Given the description of an element on the screen output the (x, y) to click on. 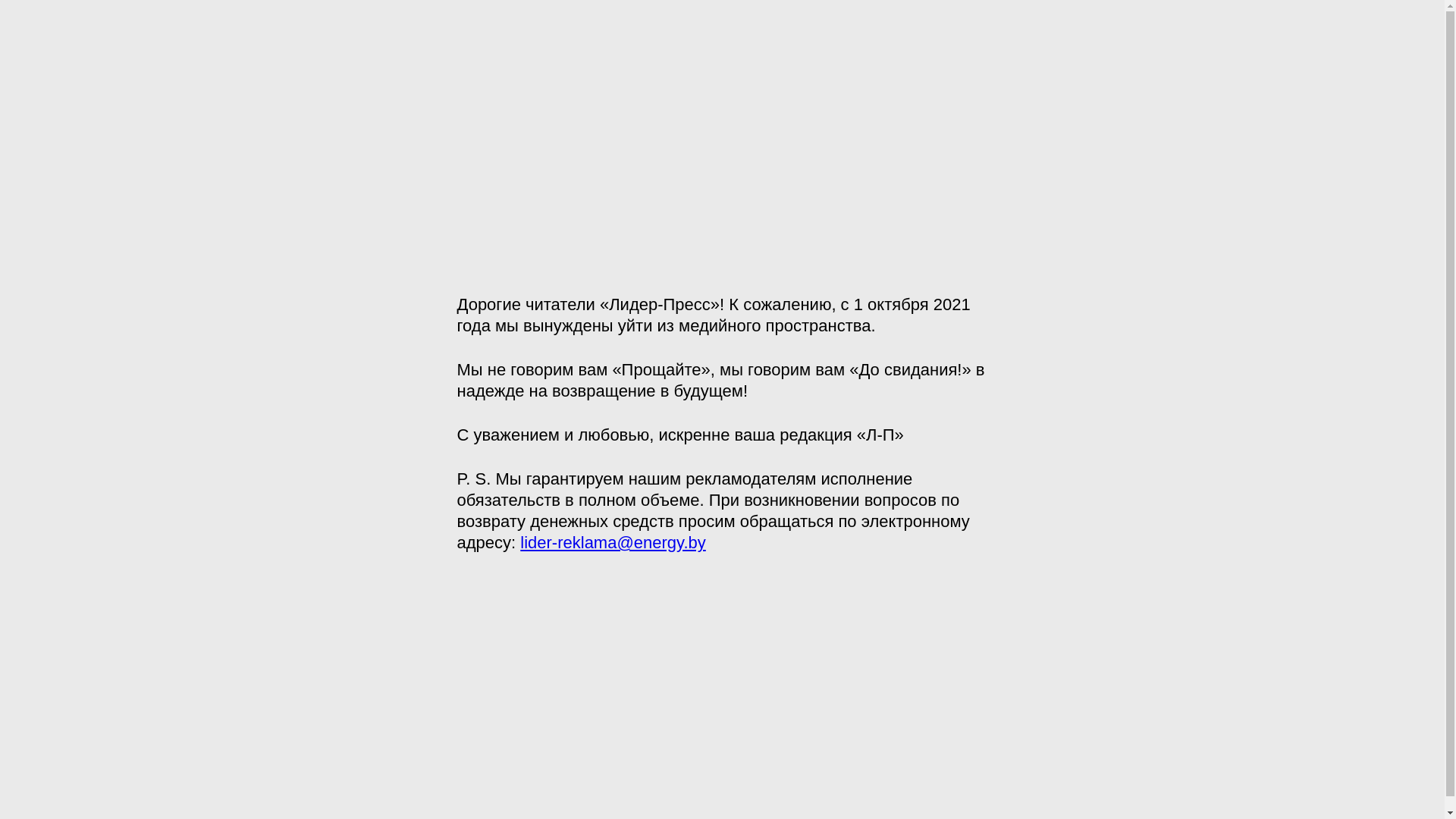
lider-reklama@energy.by Element type: text (612, 542)
